Given the description of an element on the screen output the (x, y) to click on. 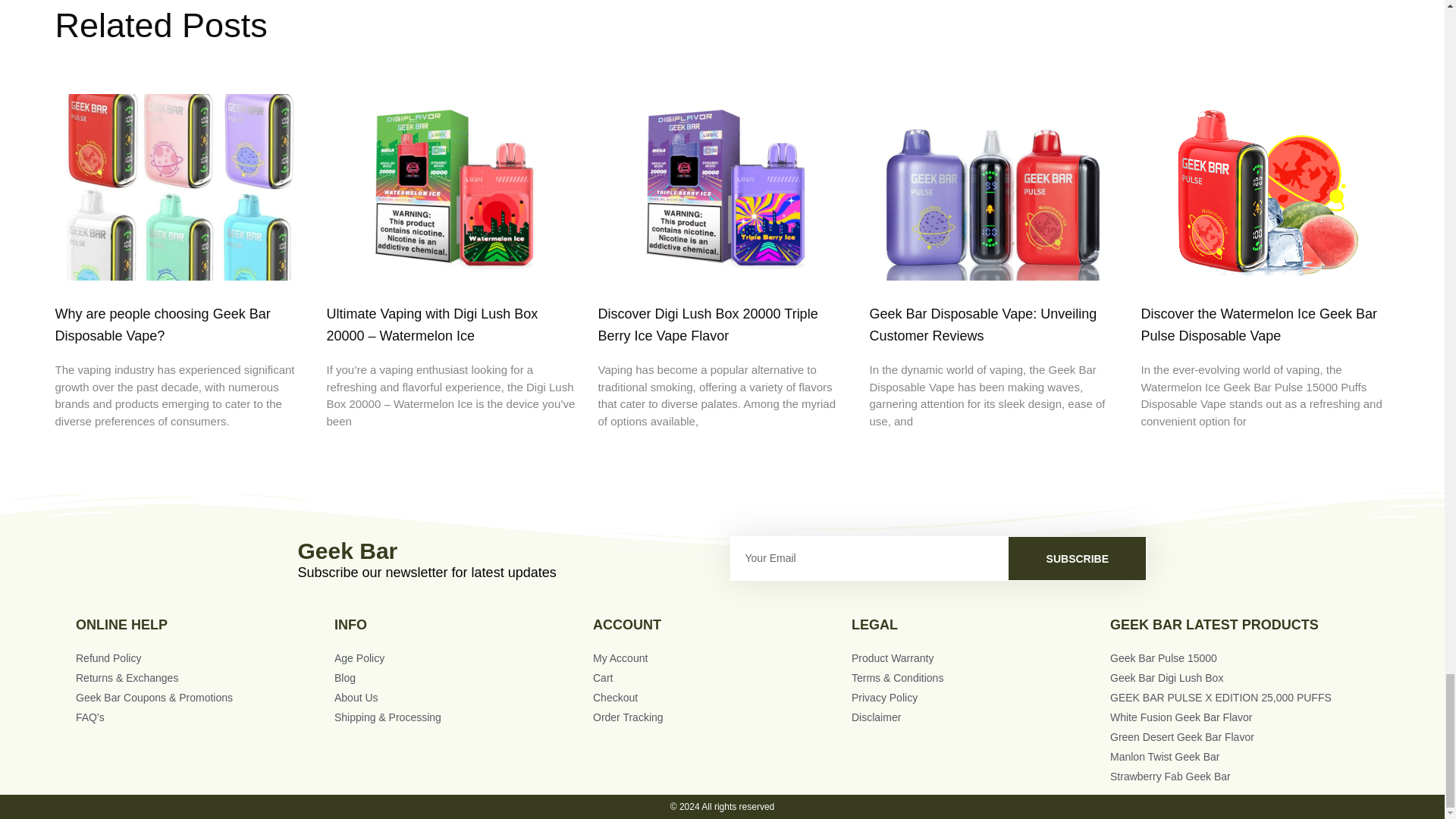
Geek Bar Disposable Vape: Unveiling Customer Reviews (982, 324)
Discover Digi Lush Box 20000 Triple Berry Ice Vape Flavor (706, 324)
Discover the Watermelon Ice Geek Bar Pulse Disposable Vape (1257, 324)
Why are people choosing Geek Bar Disposable Vape? (162, 324)
